Given the description of an element on the screen output the (x, y) to click on. 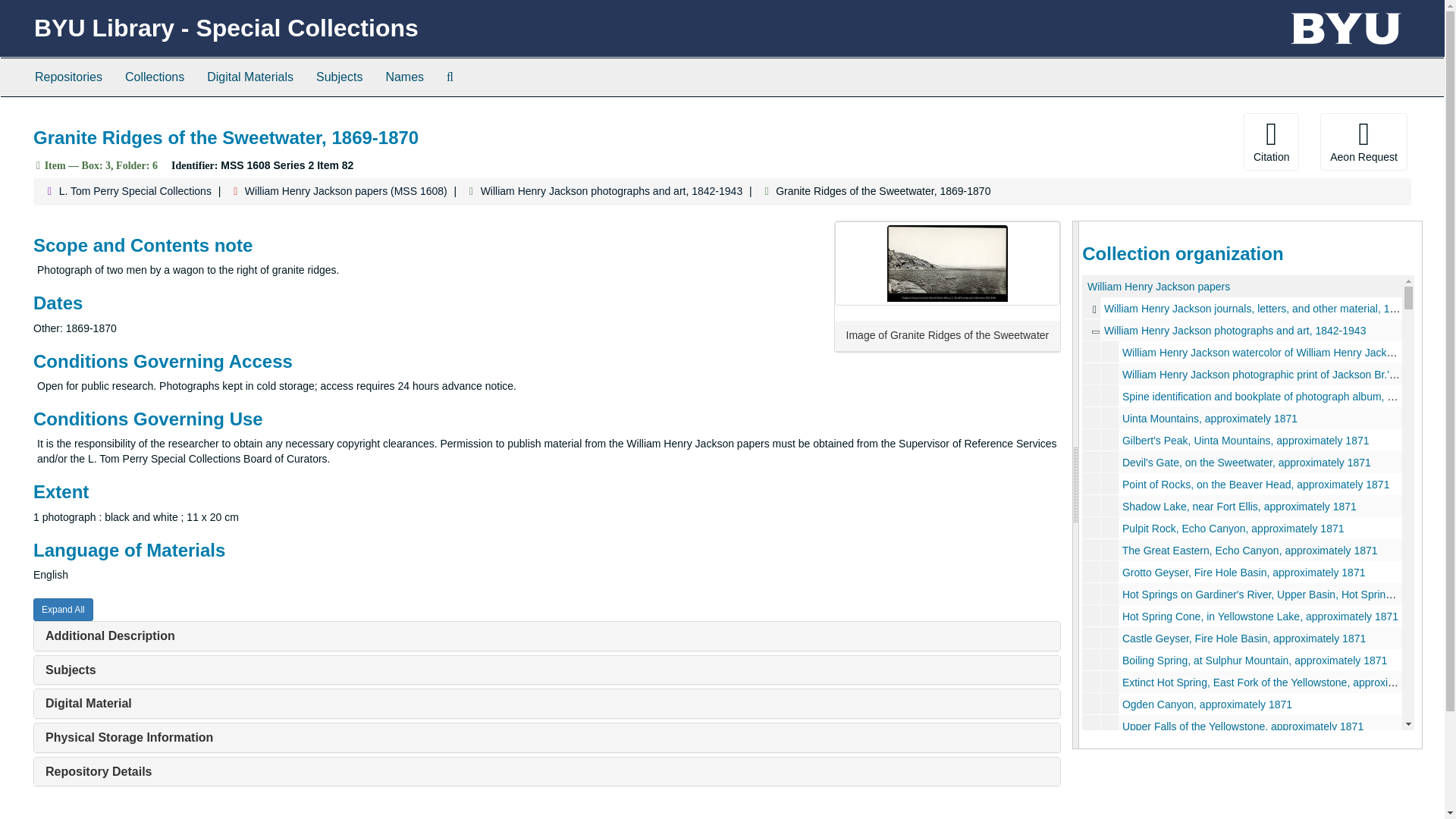
Return to the homepage (226, 27)
L. Tom Perry Special Collections (135, 191)
Spine identification and bookplate of photograph album (1242, 395)
Gilbert's Peak, Uinta Mountains (1242, 440)
Repositories (68, 77)
William Henry Jackson journals, letters, and other material (1242, 308)
Point of Rocks, on the Beaver Head (1242, 484)
Aeon Request (1363, 141)
